Given the description of an element on the screen output the (x, y) to click on. 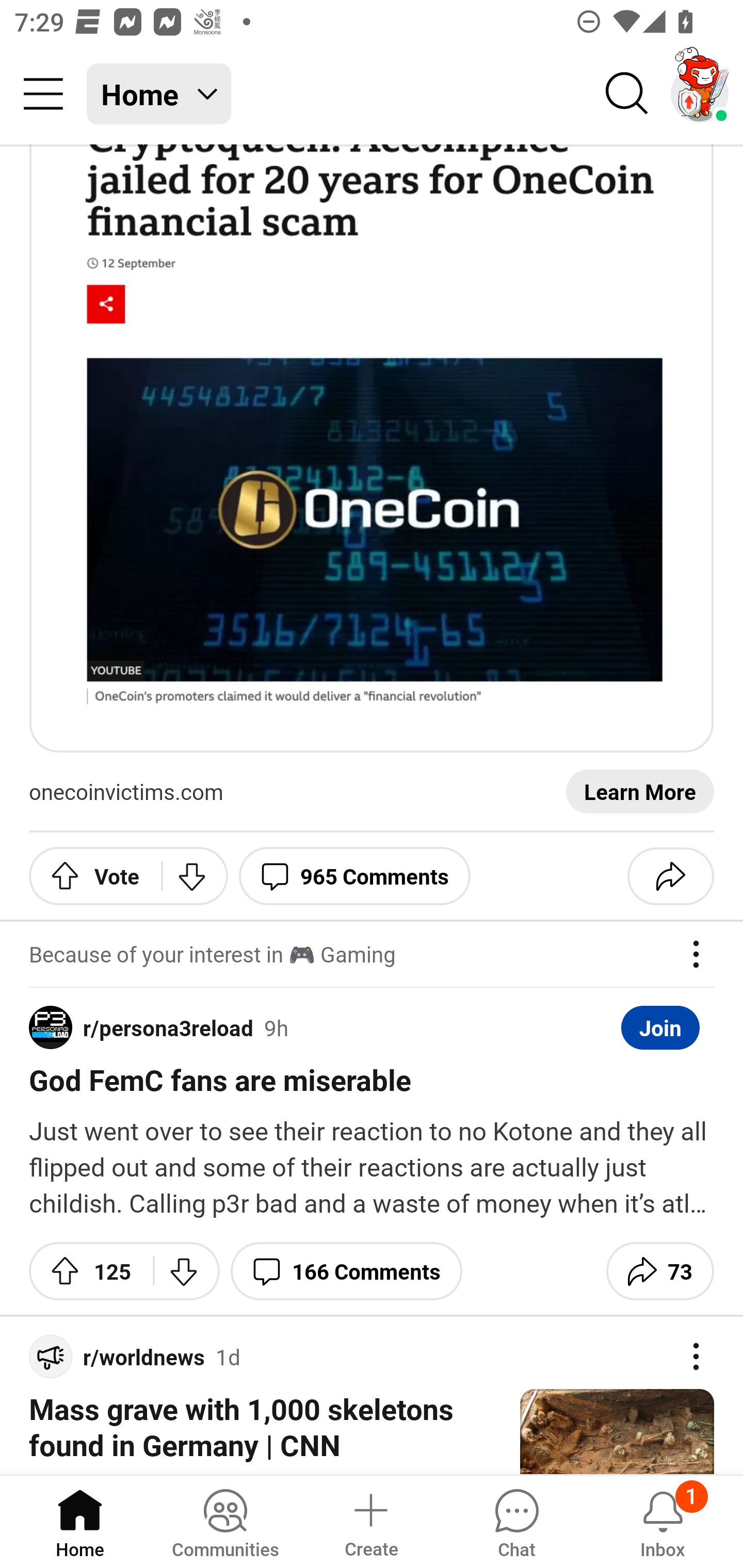
Community menu (43, 93)
Home Home feed (158, 93)
Search (626, 93)
TestAppium002 account (699, 93)
Home (80, 1520)
Communities (225, 1520)
Create a post Create (370, 1520)
Chat (516, 1520)
Inbox, has 1 notification 1 Inbox (662, 1520)
